Given the description of an element on the screen output the (x, y) to click on. 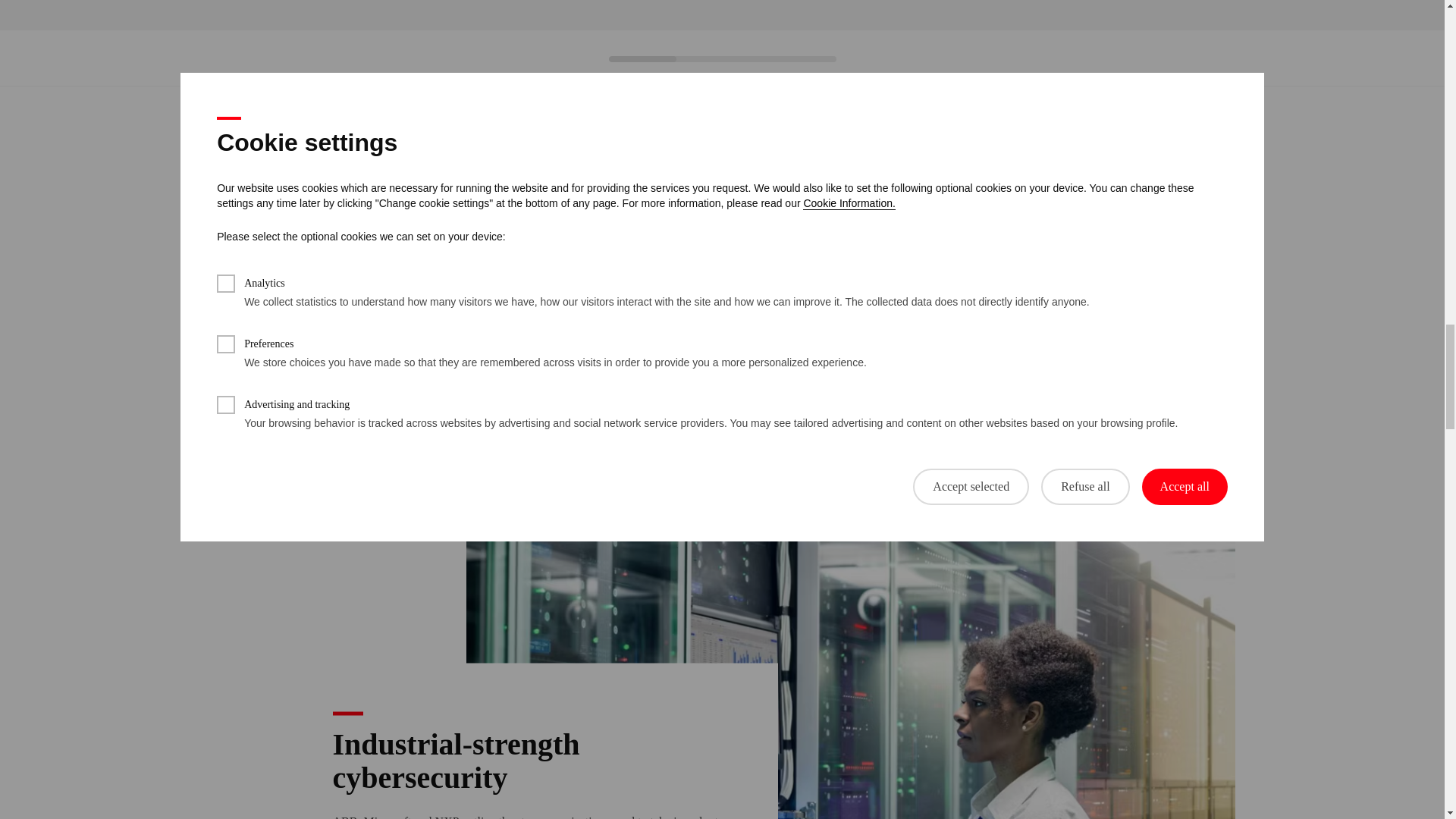
Solution highlight (721, 369)
Solution highlight (455, 369)
